Given the description of an element on the screen output the (x, y) to click on. 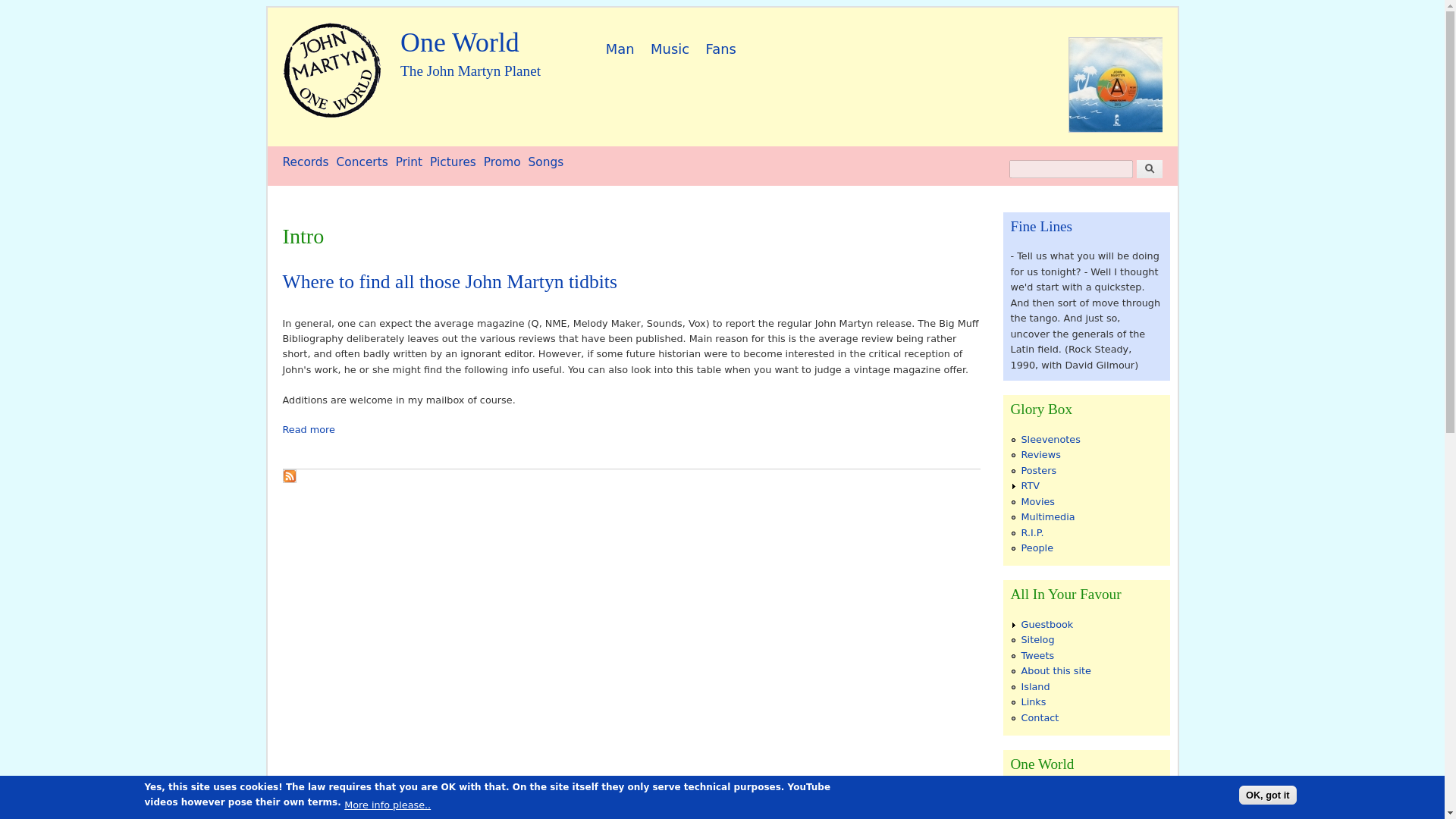
Where to find all those John Martyn tidbits (448, 281)
Canada (1039, 808)
Multimedia (1047, 516)
RTV (1029, 485)
Company cover.. (1115, 84)
Movies (1037, 501)
I'm Going Home - Over The Hill.. (459, 42)
Songs (546, 161)
25 years of Island.. (1021, 84)
USA (1030, 793)
Promo (502, 161)
Posters (1038, 470)
R.I.P. (1031, 532)
Big Surch (1148, 168)
Sleevenotes (1050, 439)
